Given the description of an element on the screen output the (x, y) to click on. 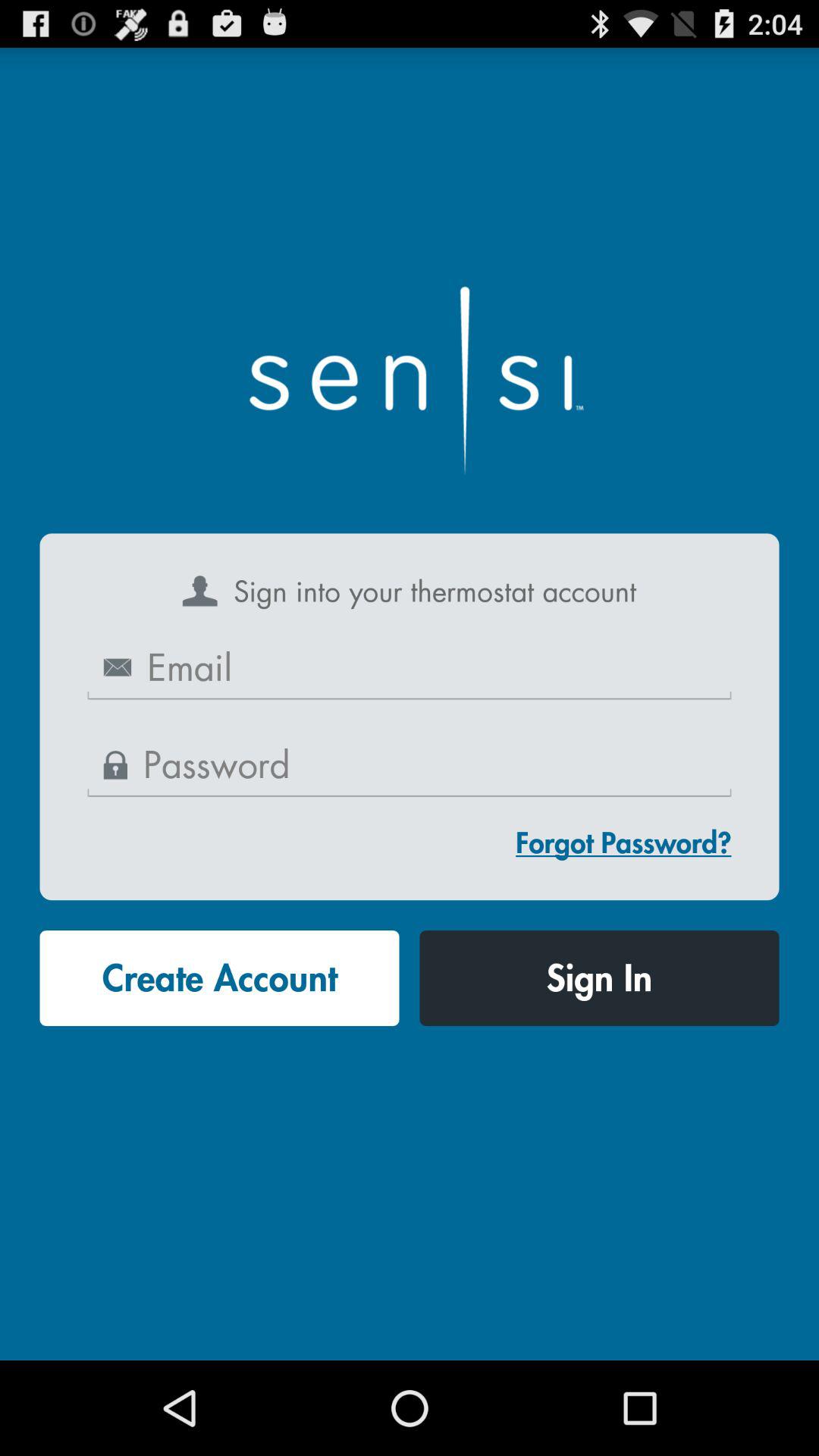
choose the button at the bottom left corner (219, 978)
